Given the description of an element on the screen output the (x, y) to click on. 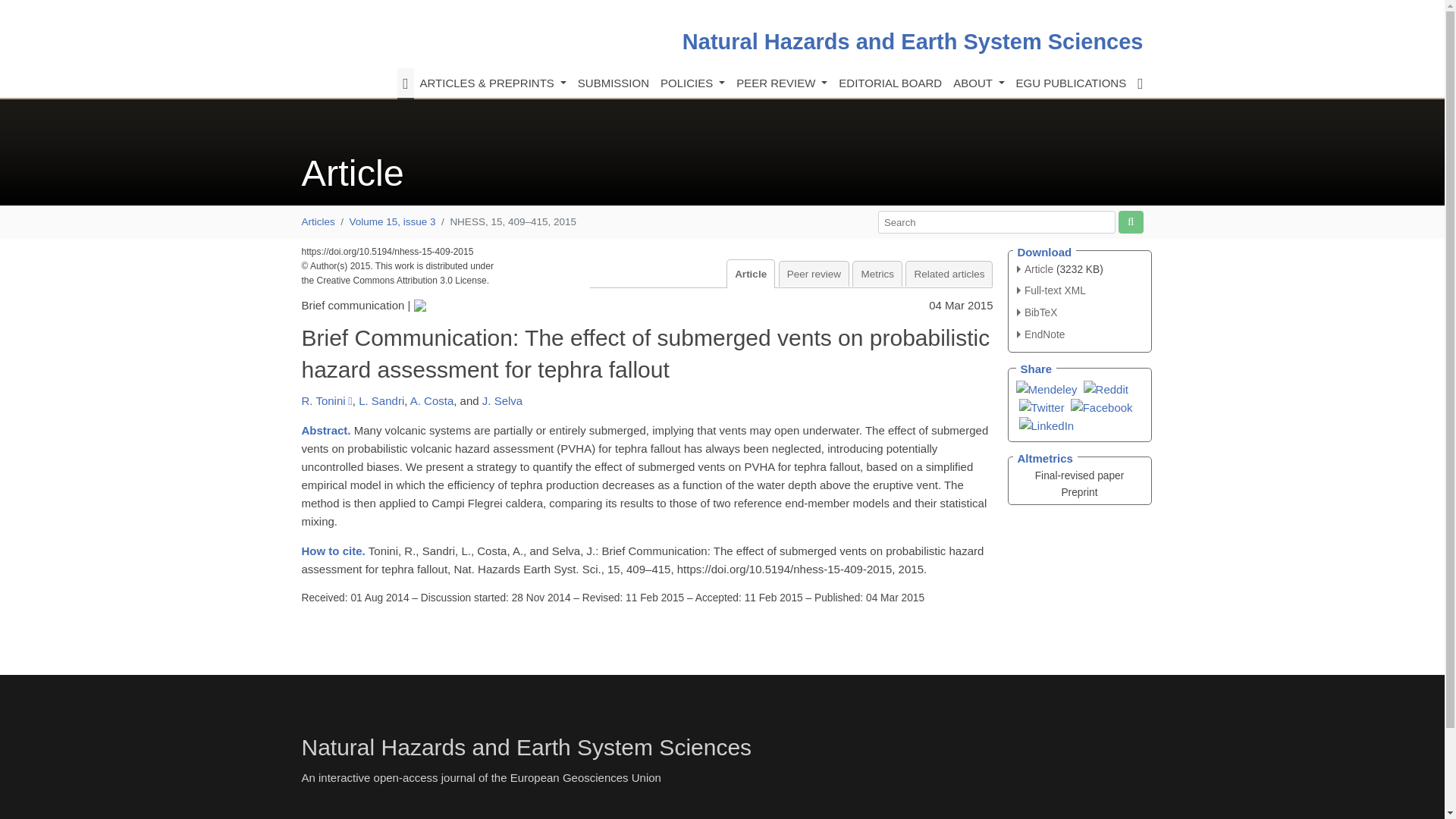
Twitter (1041, 406)
PEER REVIEW (781, 83)
XML Version (1051, 290)
POLICIES (691, 83)
Reddit (1105, 388)
Natural Hazards and Earth System Sciences (912, 41)
Mendeley (1046, 388)
SUBMISSION (612, 83)
Start site search (1130, 221)
Facebook (1101, 406)
